Given the description of an element on the screen output the (x, y) to click on. 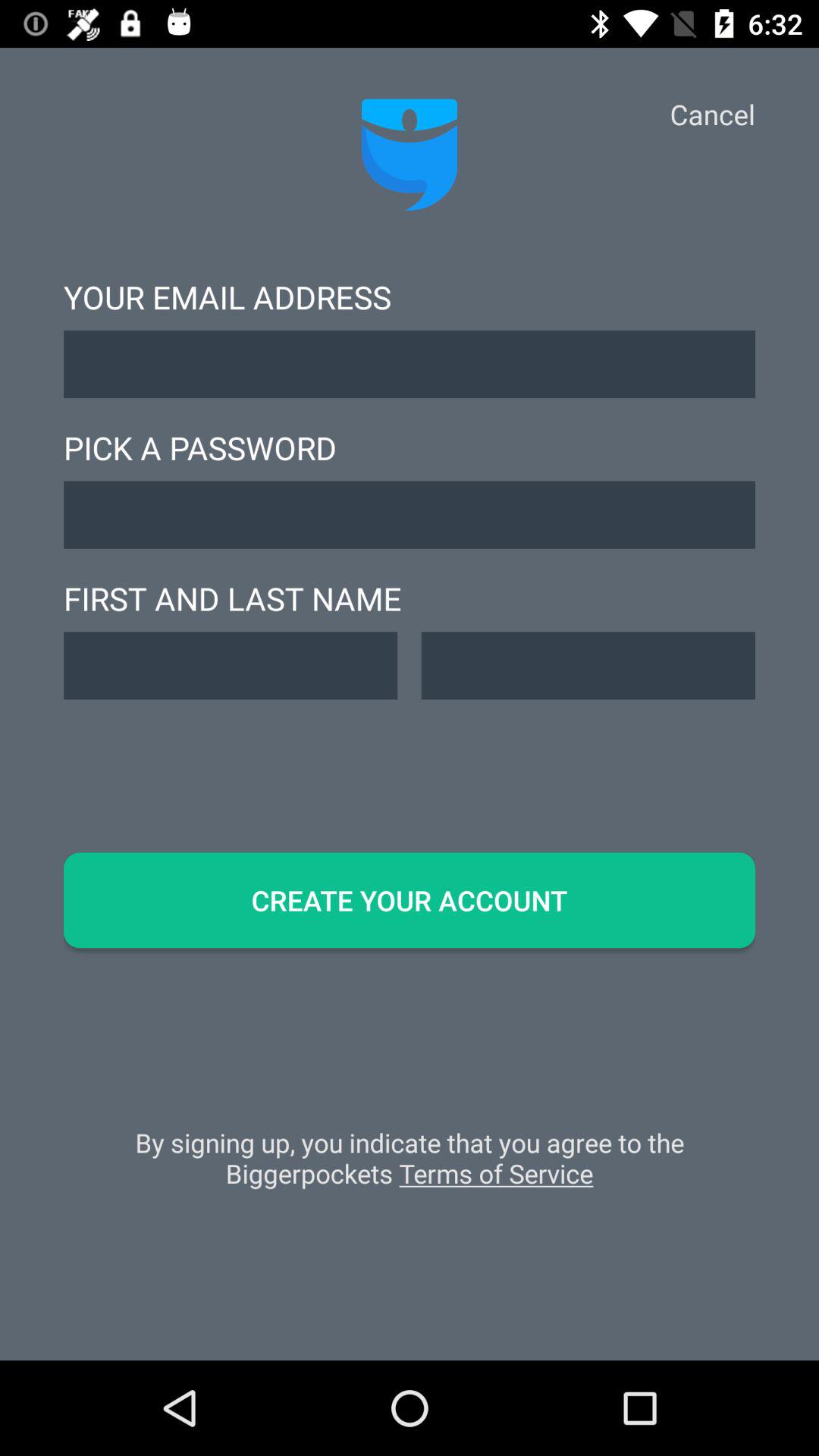
click the create your account icon (409, 900)
